Given the description of an element on the screen output the (x, y) to click on. 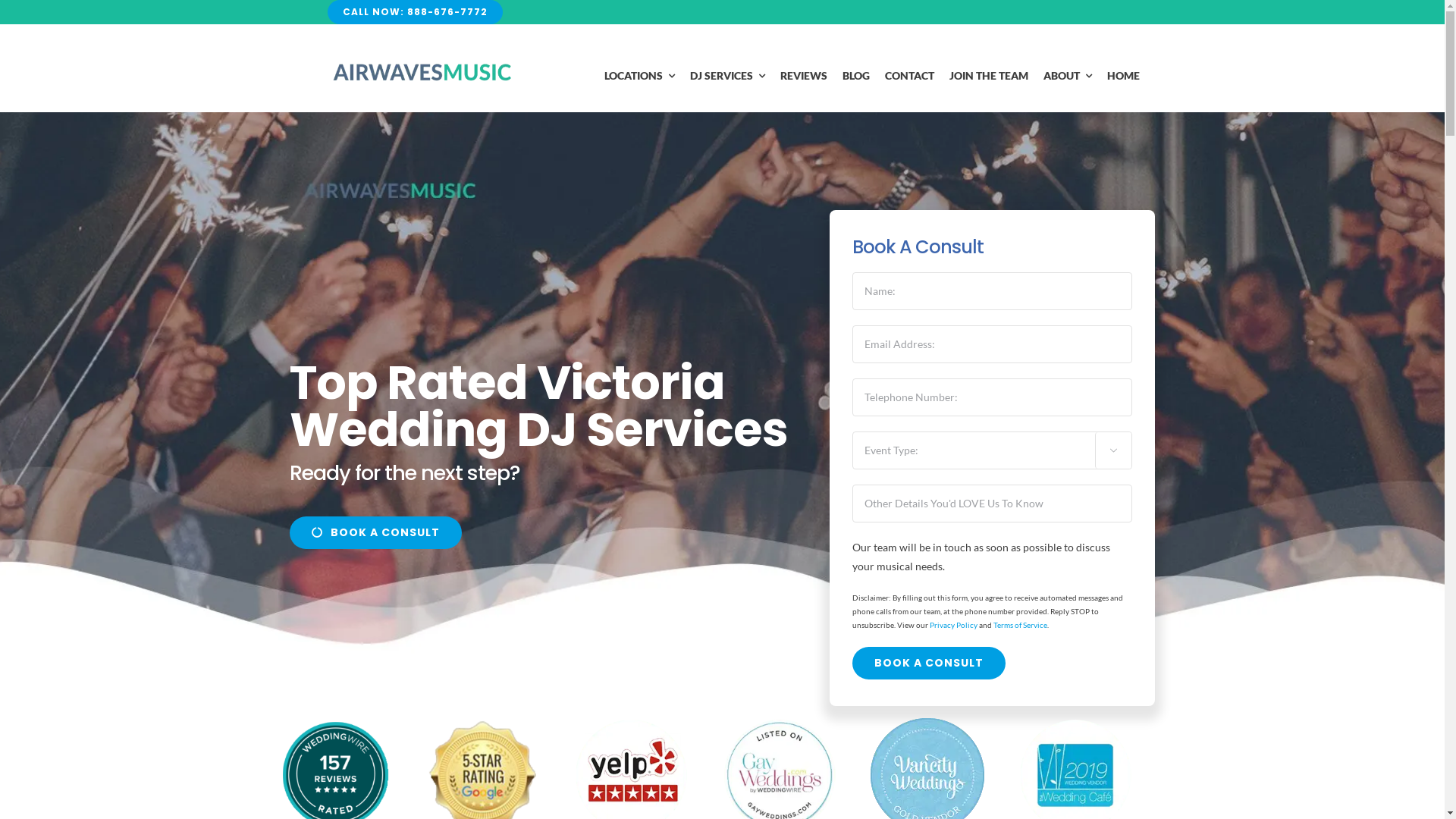
ABOUT Element type: text (1067, 75)
HOME Element type: text (1123, 75)
BLOG Element type: text (855, 75)
JOIN THE TEAM Element type: text (988, 75)
BOOK A CONSULT Element type: text (375, 532)
Privacy Policy Element type: text (953, 624)
DJ SERVICES Element type: text (727, 75)
Terms of Service Element type: text (1020, 624)
Book A Consult Element type: text (928, 662)
CALL NOW: 888-676-7772 Element type: text (414, 12)
CONTACT Element type: text (909, 75)
LOCATIONS Element type: text (639, 75)
REVIEWS Element type: text (803, 75)
